Given the description of an element on the screen output the (x, y) to click on. 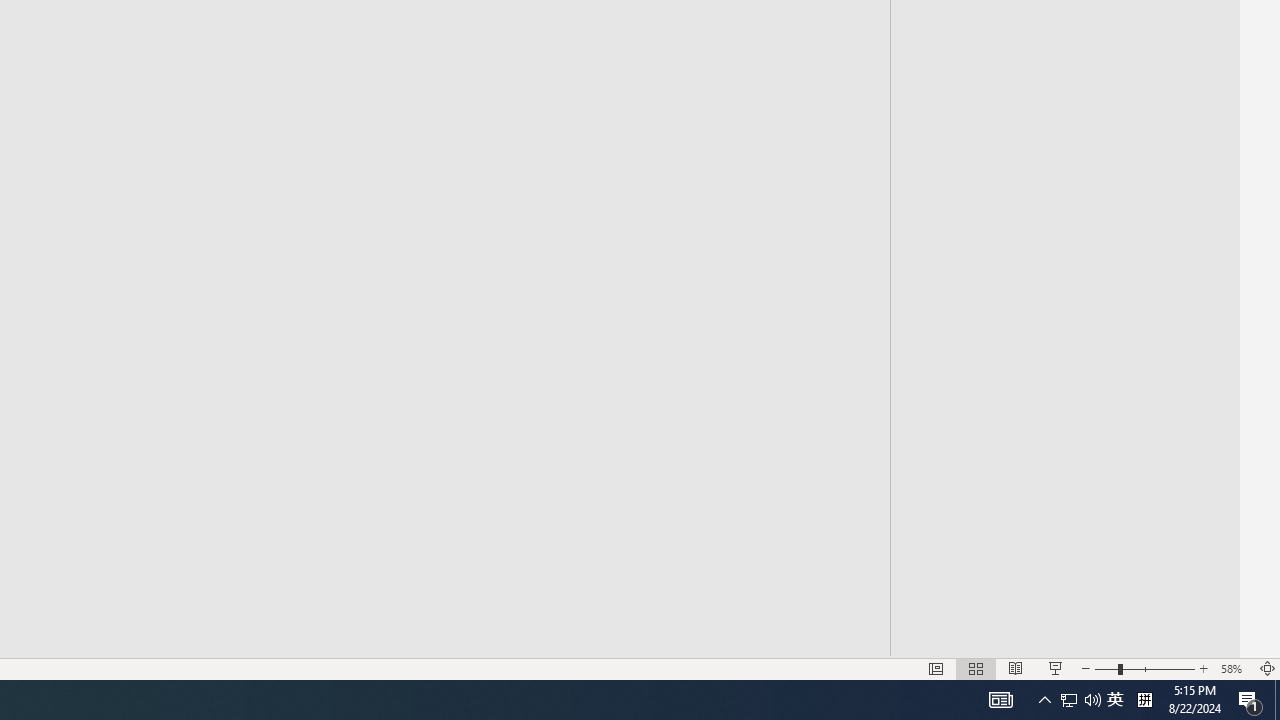
Zoom 58% (1234, 668)
